Given the description of an element on the screen output the (x, y) to click on. 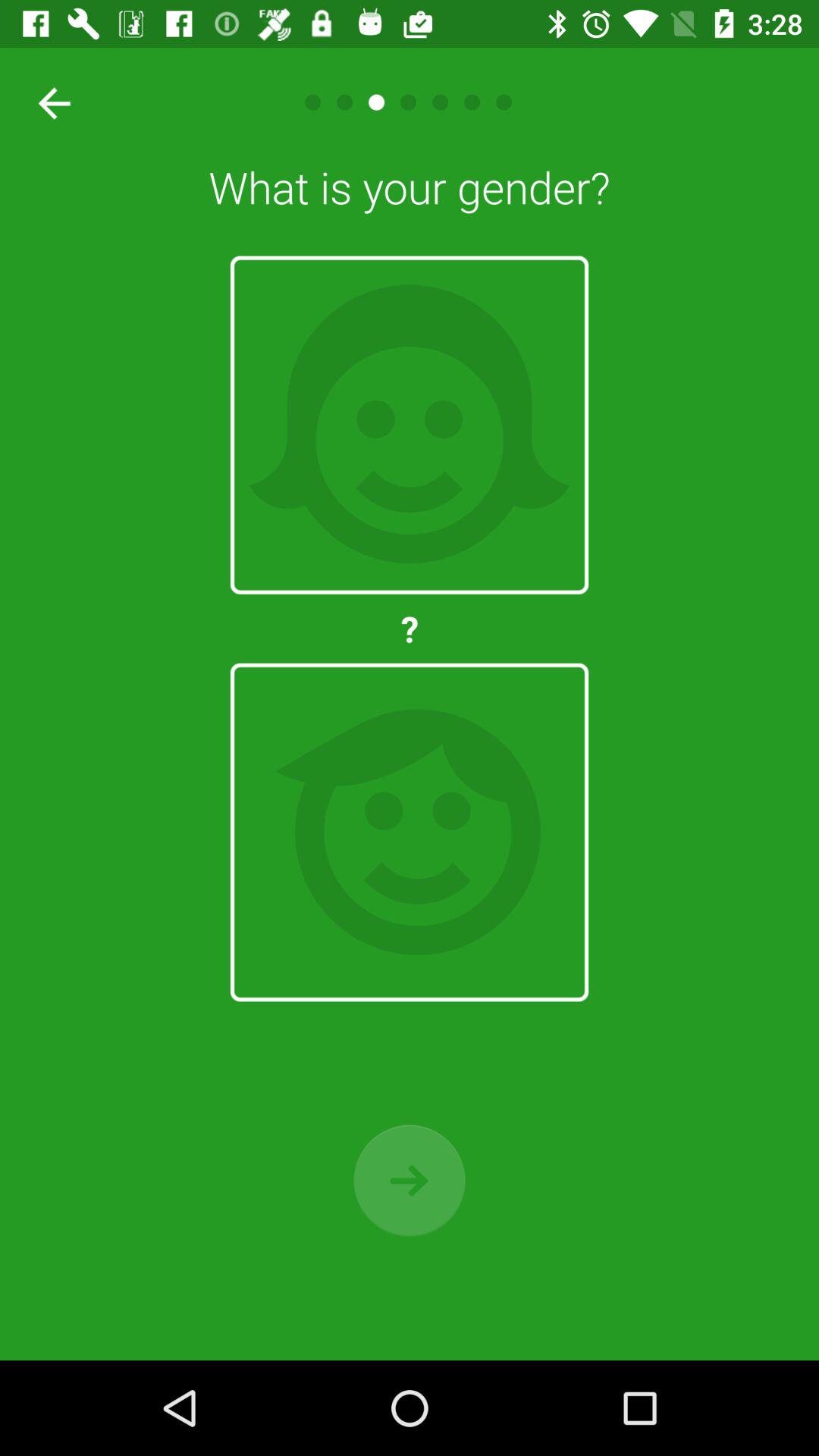
female (409, 424)
